Given the description of an element on the screen output the (x, y) to click on. 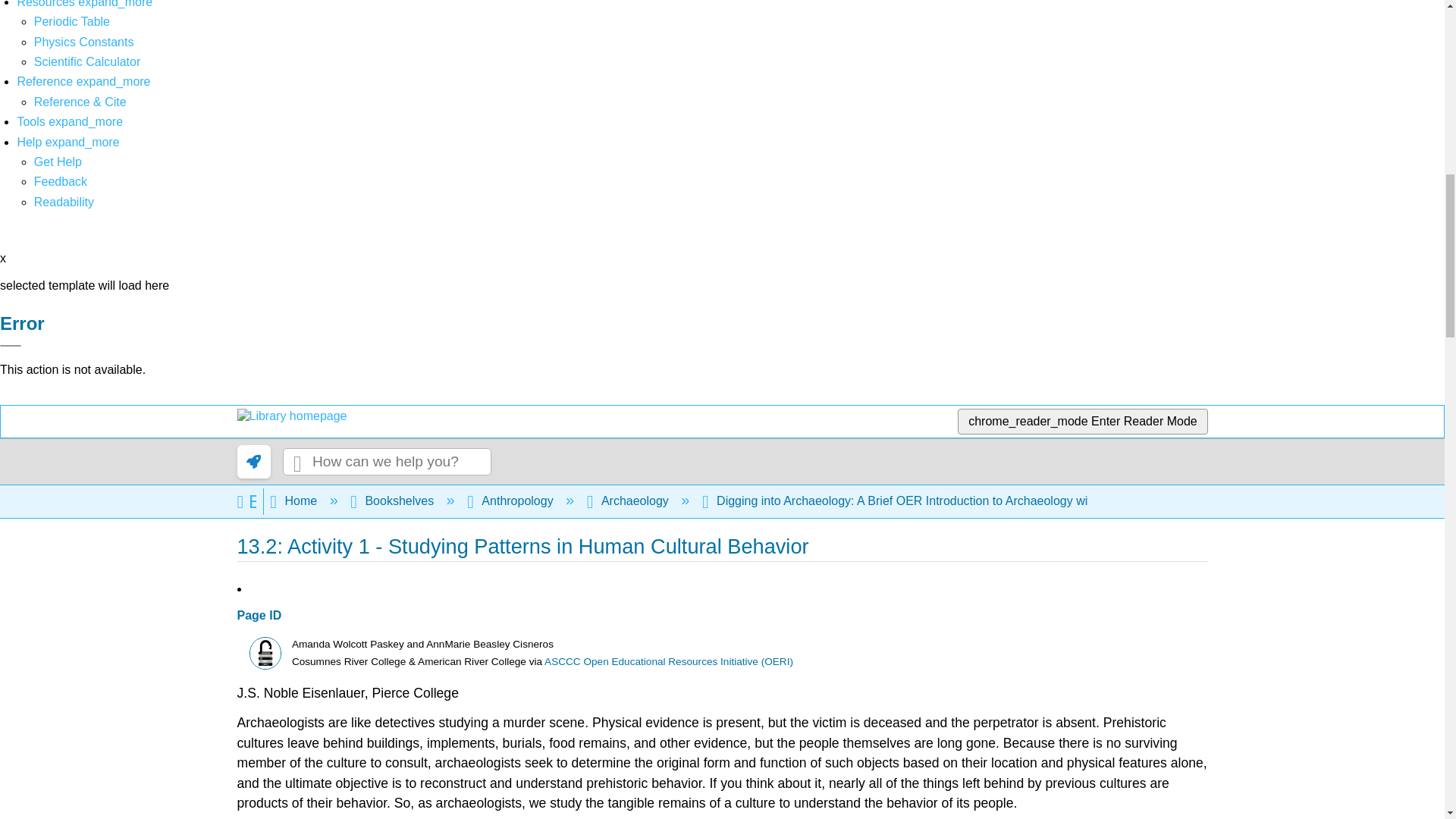
Scientific Calculator (87, 61)
Periodic Table (71, 21)
Physics Constants (83, 42)
Amanda Wolcott Paskey and AnnMarie Beasley Cisneros (265, 653)
Feedback (60, 181)
Readability (63, 201)
Get Help (57, 161)
